Given the description of an element on the screen output the (x, y) to click on. 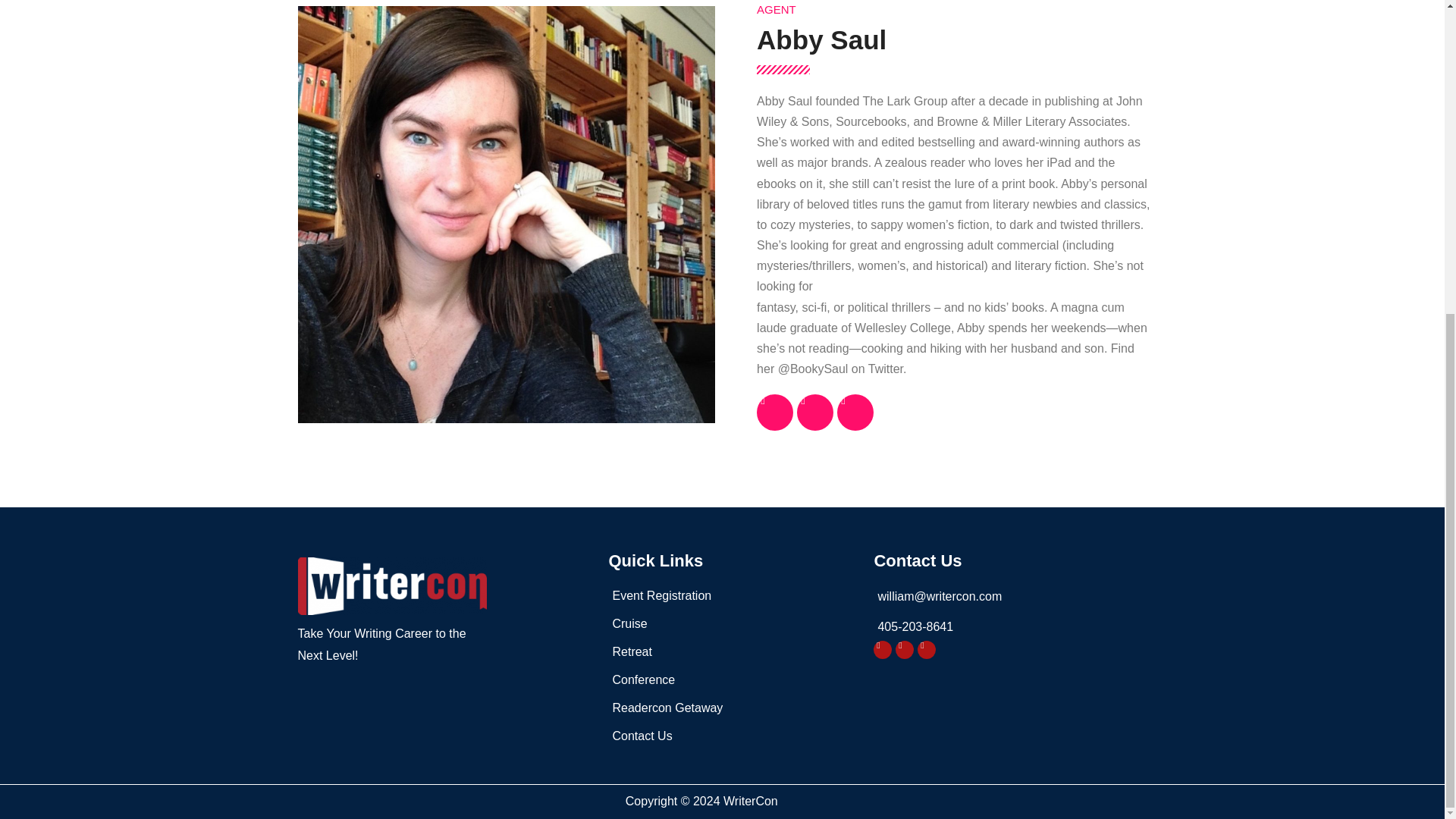
Retreat (733, 651)
405-203-8641 (1010, 627)
Contact Us (733, 736)
Cruise (733, 623)
WriterCon Logo Reversed (391, 586)
Event Registration (733, 596)
Readercon Getaway (733, 708)
Conference (733, 680)
